Given the description of an element on the screen output the (x, y) to click on. 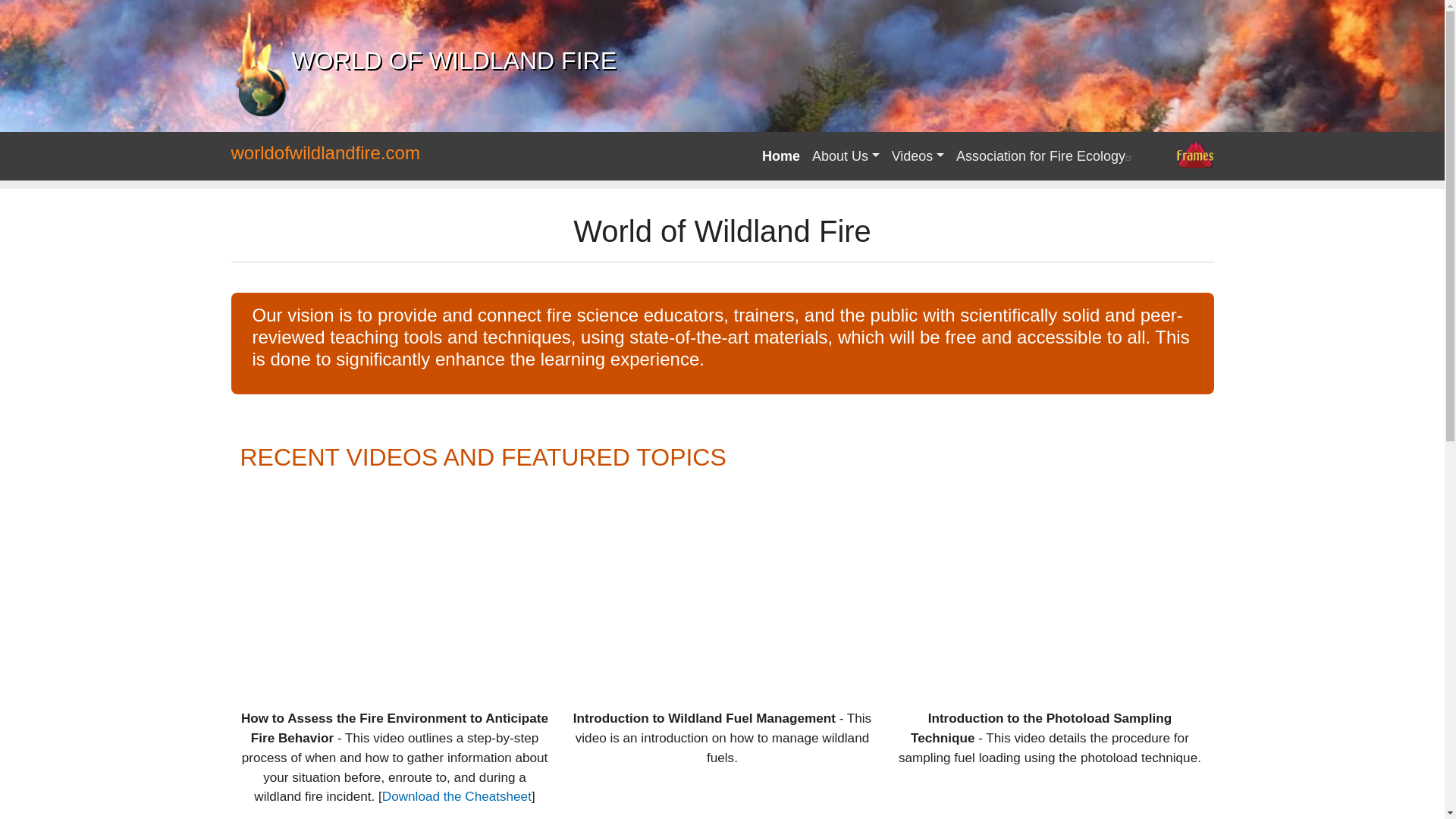
Home (780, 156)
Introduction to the Photoload Sampling Technique (1049, 585)
Introduction to Wildland Fuel Management (721, 585)
About Us (845, 156)
Videos (917, 156)
Download the Cheatsheet (456, 795)
Go to the Association for Fire Ecology website (1045, 156)
